Given the description of an element on the screen output the (x, y) to click on. 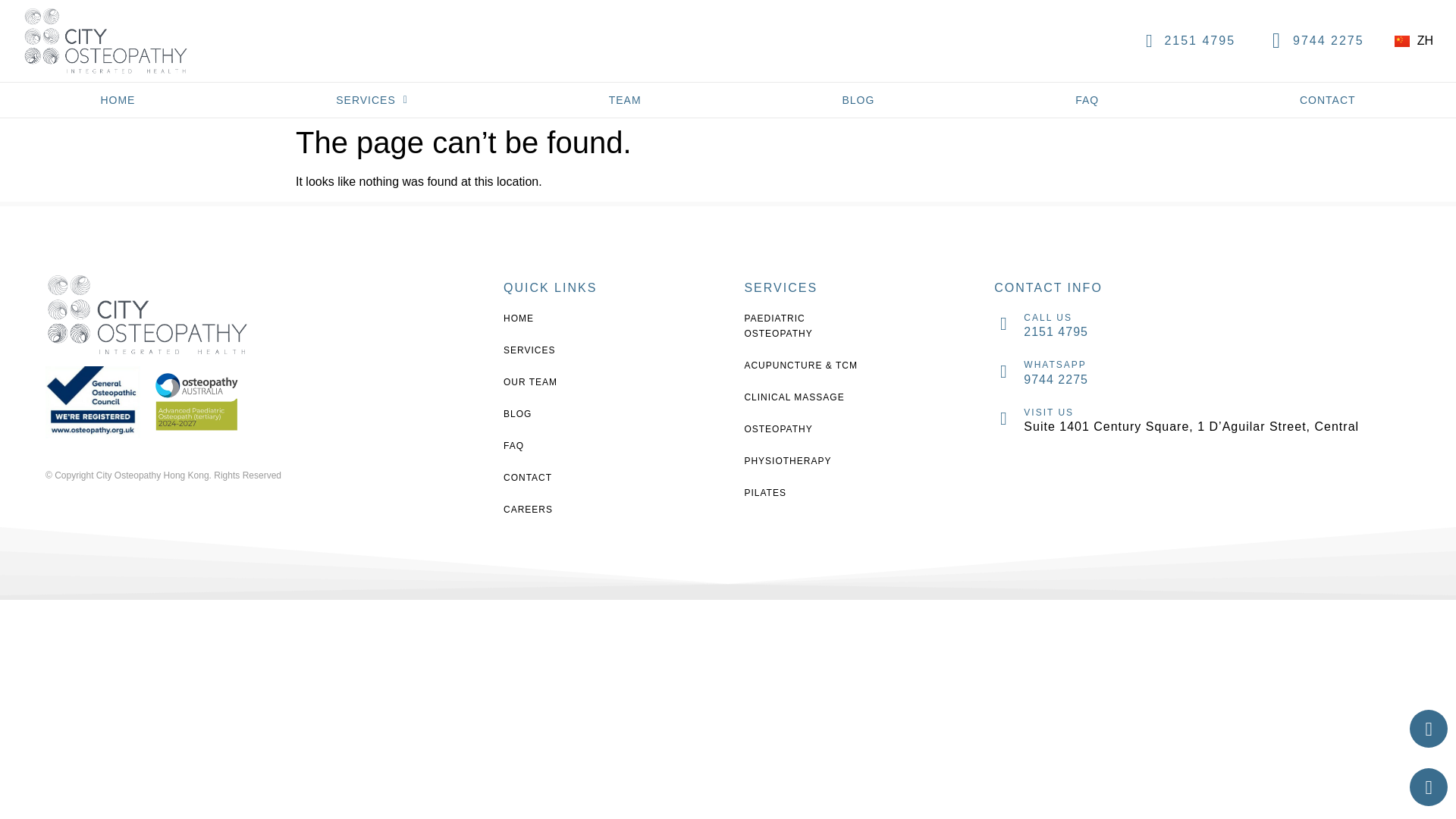
BLOG (858, 99)
HOME (563, 318)
FAQ (563, 445)
SERVICES (563, 349)
HOME (117, 99)
BLOG (563, 413)
9744 2275 (1328, 40)
CONTACT (563, 477)
CAREERS (563, 509)
OUR TEAM (563, 381)
TEAM (624, 99)
2151 4795 (1198, 40)
ZH (1413, 40)
SERVICES (371, 99)
FAQ (1087, 99)
